Given the description of an element on the screen output the (x, y) to click on. 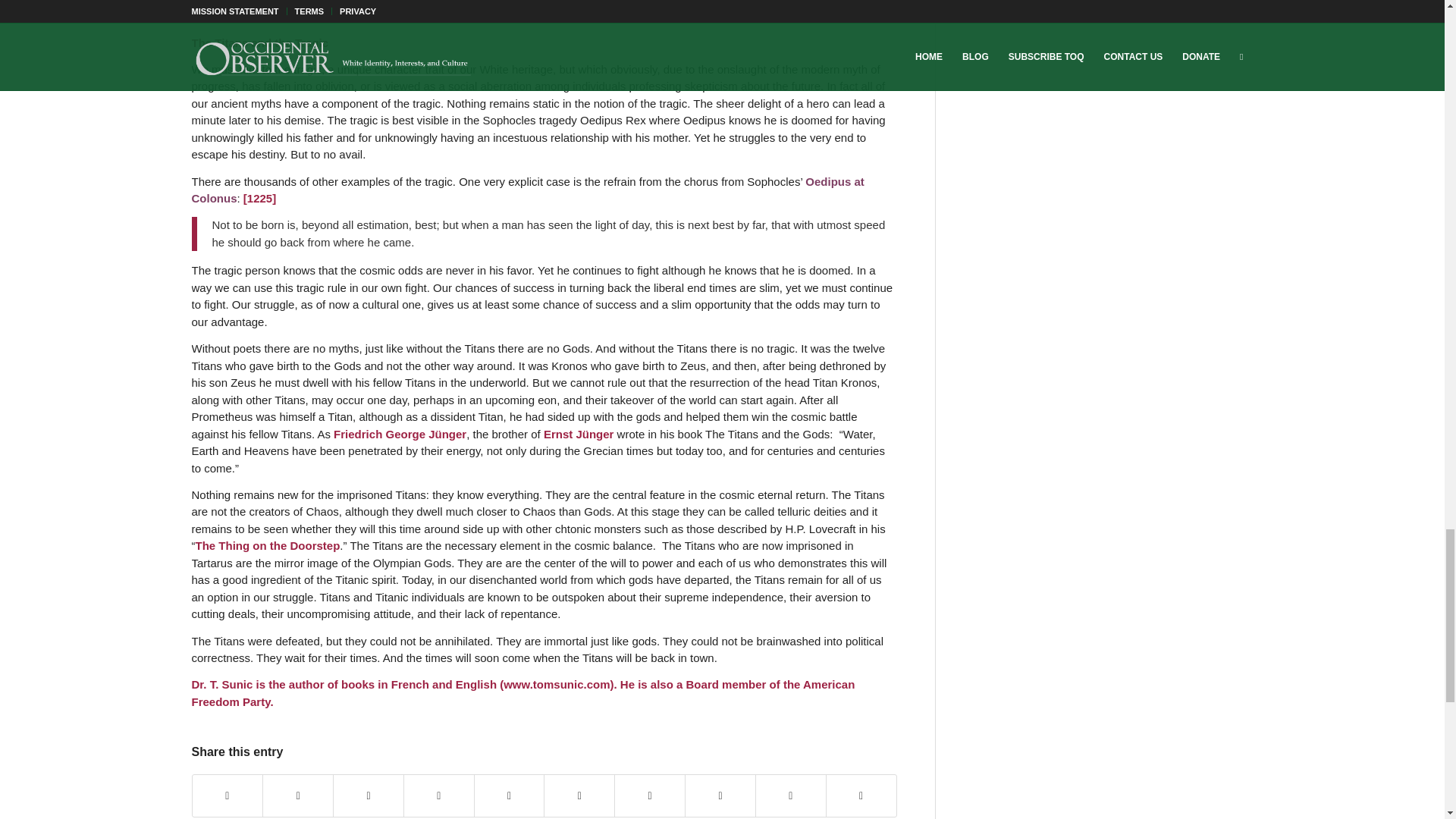
Oedipus at Colonus (526, 190)
www.tomsunic.com (556, 684)
The Thing on the Doorstep (267, 545)
